Given the description of an element on the screen output the (x, y) to click on. 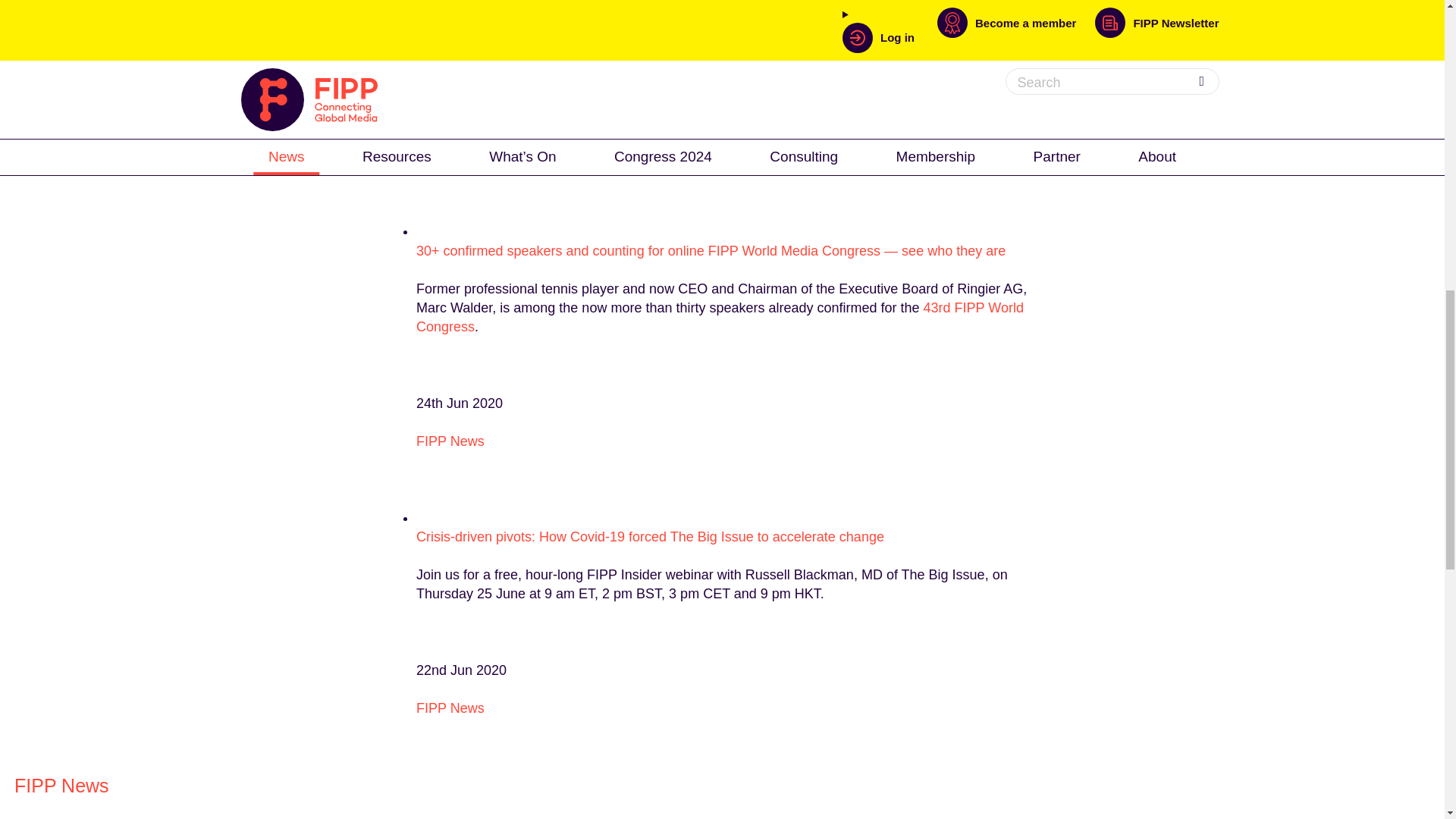
FIPP News (450, 441)
43rd FIPP World Congress (719, 317)
Features (443, 155)
FIPP News (450, 708)
